Given the description of an element on the screen output the (x, y) to click on. 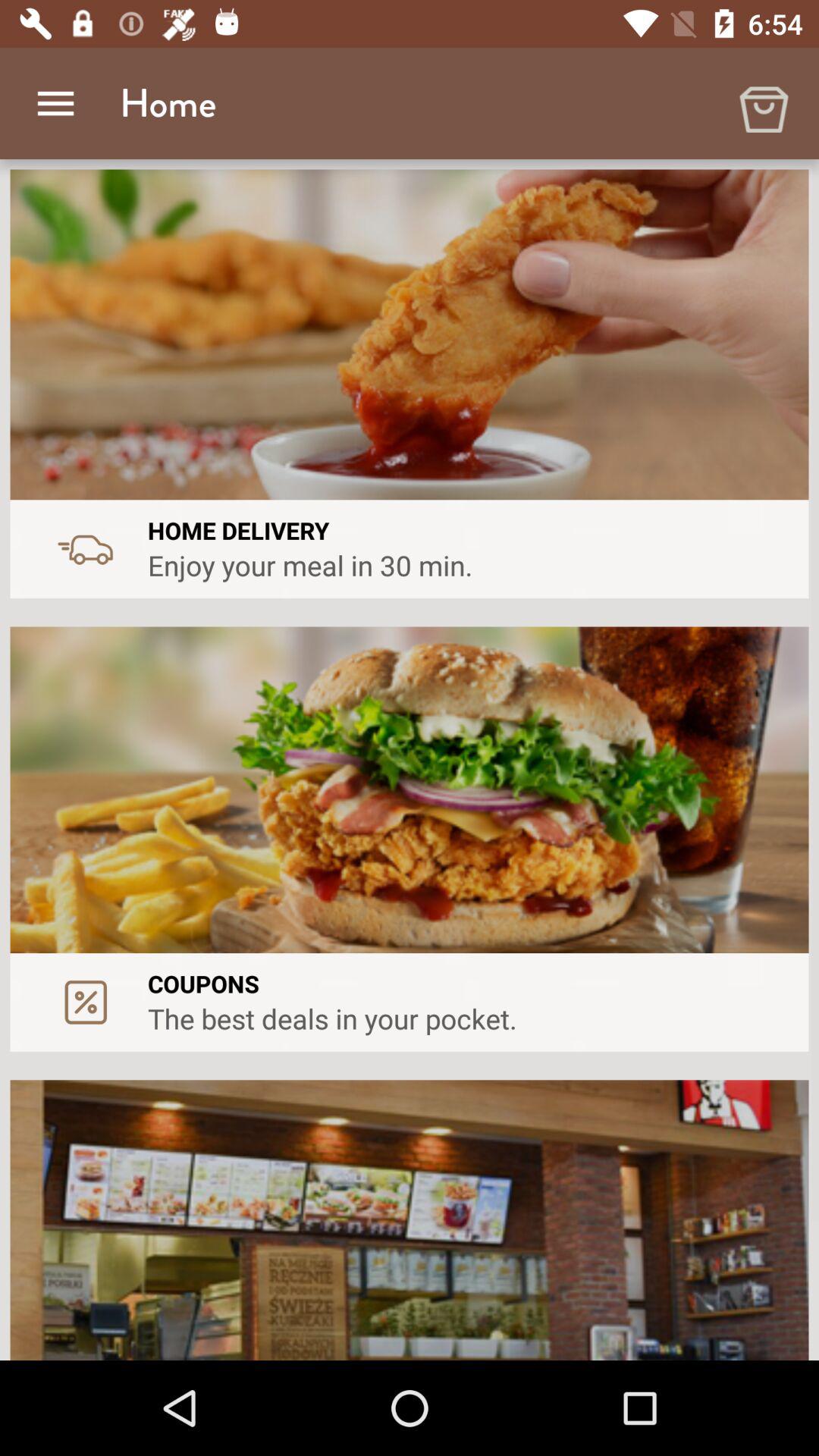
tap icon next to the home item (763, 103)
